Given the description of an element on the screen output the (x, y) to click on. 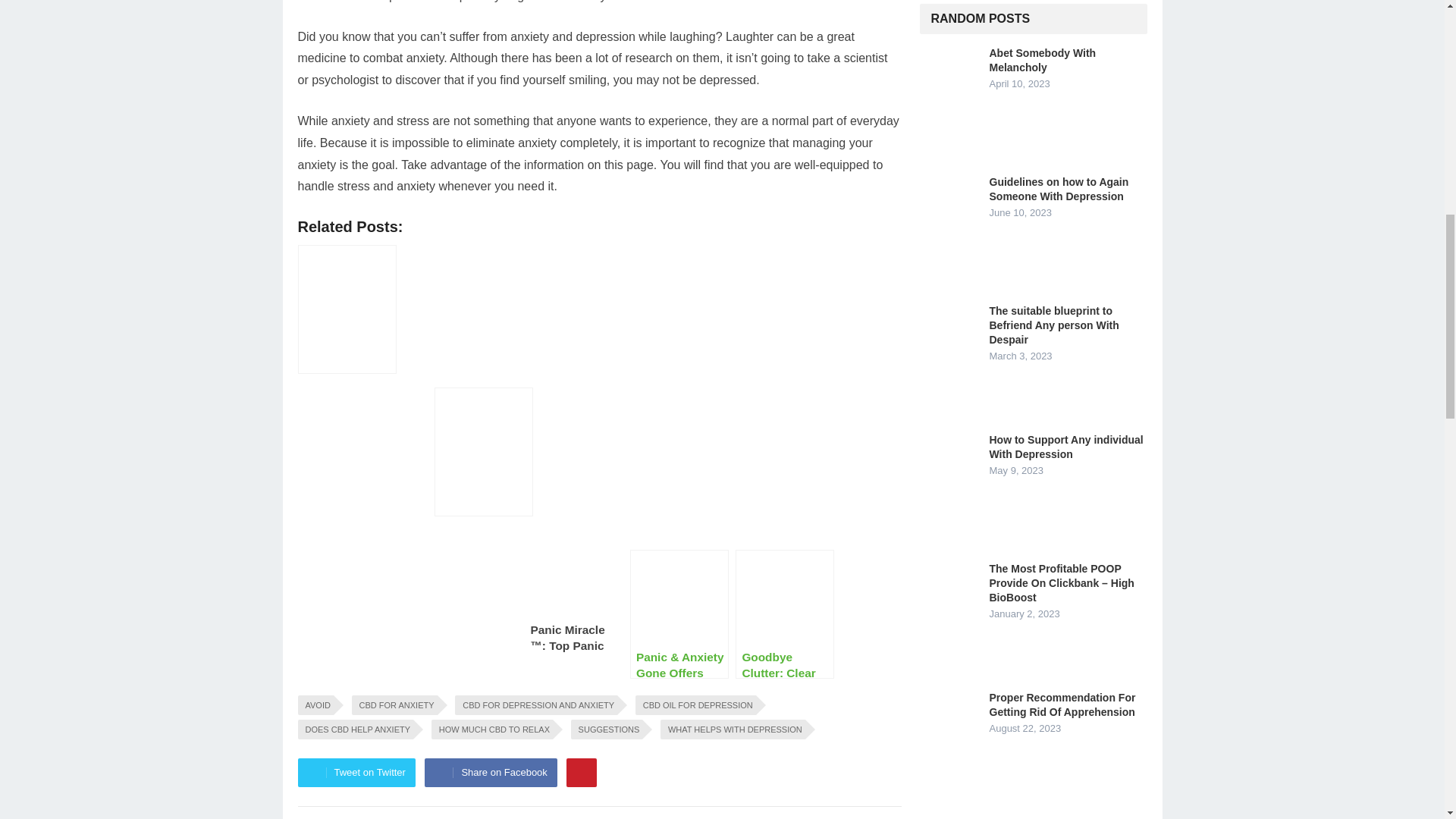
CBD FOR DEPRESSION AND ANXIETY (535, 704)
CBD OIL FOR DEPRESSION (694, 704)
AVOID (315, 704)
Share on Facebook (490, 772)
Tweet on Twitter (355, 772)
WHAT HELPS WITH DEPRESSION (733, 729)
DOES CBD HELP ANXIETY (355, 729)
HOW MUCH CBD TO RELAX (491, 729)
CBD FOR ANXIETY (395, 704)
SUGGESTIONS (606, 729)
Pinterest (581, 772)
